Given the description of an element on the screen output the (x, y) to click on. 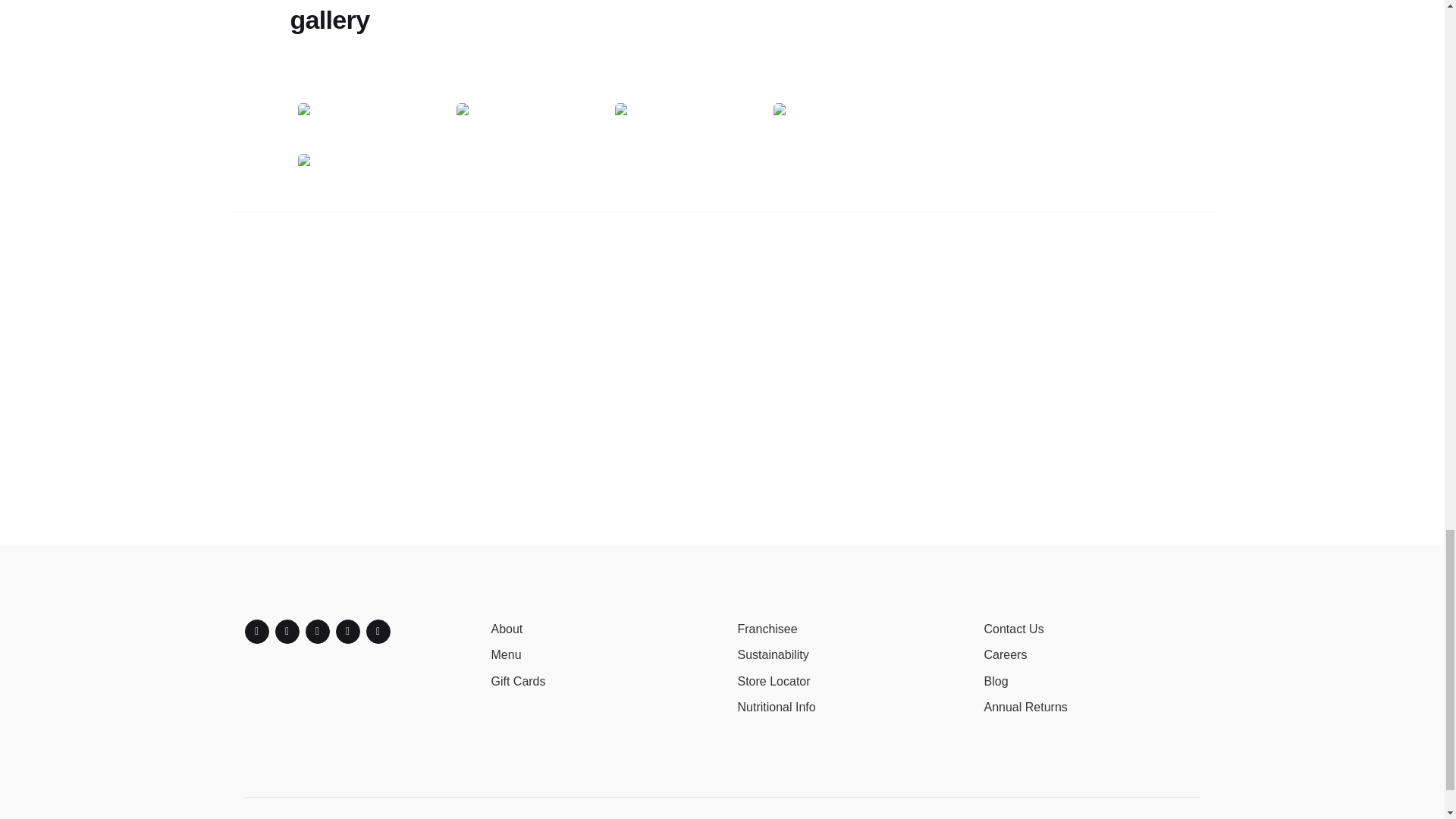
Sustainability (772, 654)
Franchisee (766, 628)
Menu (506, 654)
About (507, 628)
Gift Cards (519, 680)
